Given the description of an element on the screen output the (x, y) to click on. 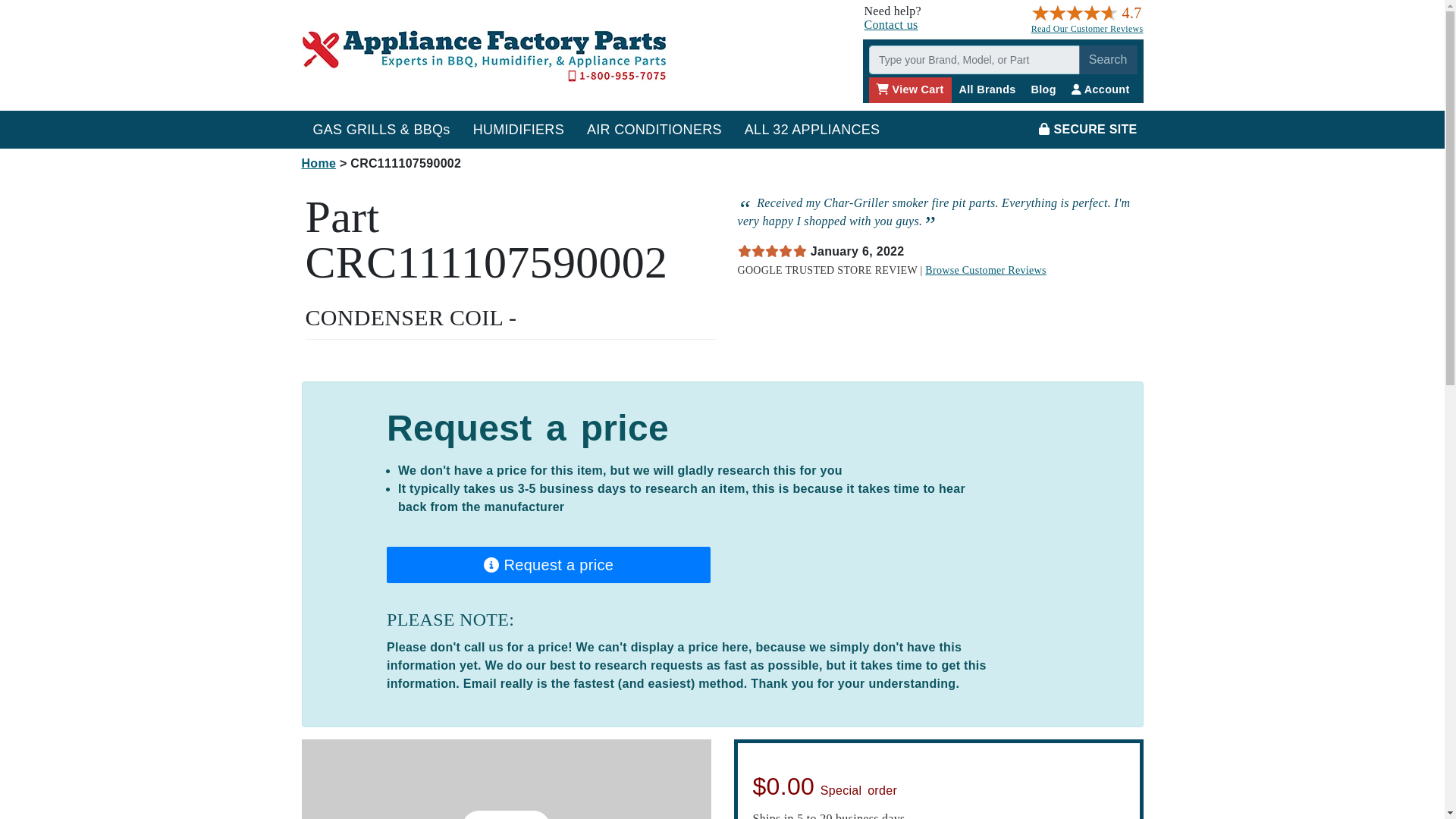
HUMIDIFIERS (518, 129)
All Brands (987, 89)
Home (318, 163)
Browse Customer Reviews (984, 270)
4.7 (1084, 12)
Blog (1043, 89)
Read Our Customer Reviews (1086, 28)
Account (1100, 89)
Request a price (549, 565)
AIR CONDITIONERS (654, 129)
